Given the description of an element on the screen output the (x, y) to click on. 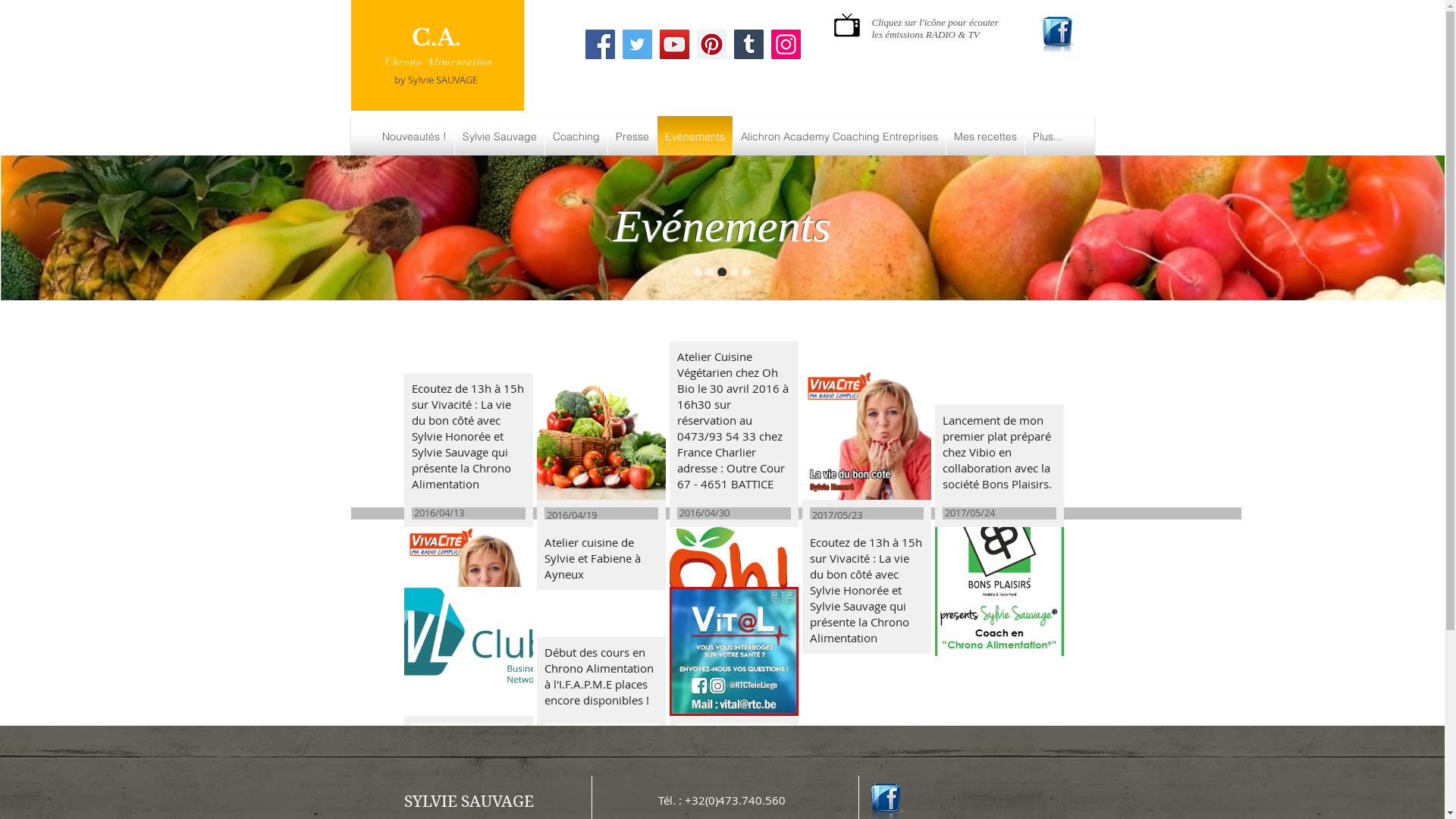
Alichron Academy Coaching Entreprises Element type: text (839, 136)
Sylvie Sauvage Element type: text (499, 136)
Lumifish Timeline Element type: hover (795, 513)
Presse Element type: text (632, 136)
by Sylvie SAUVAGE Element type: text (435, 79)
SYLVIE SAUVAGE Element type: text (468, 801)
RADIO Element type: text (940, 34)
C.A.
 Chrono Alimentation Element type: text (436, 50)
TV Element type: text (973, 34)
Mes recettes Element type: text (985, 136)
Coaching Element type: text (576, 136)
